Given the description of an element on the screen output the (x, y) to click on. 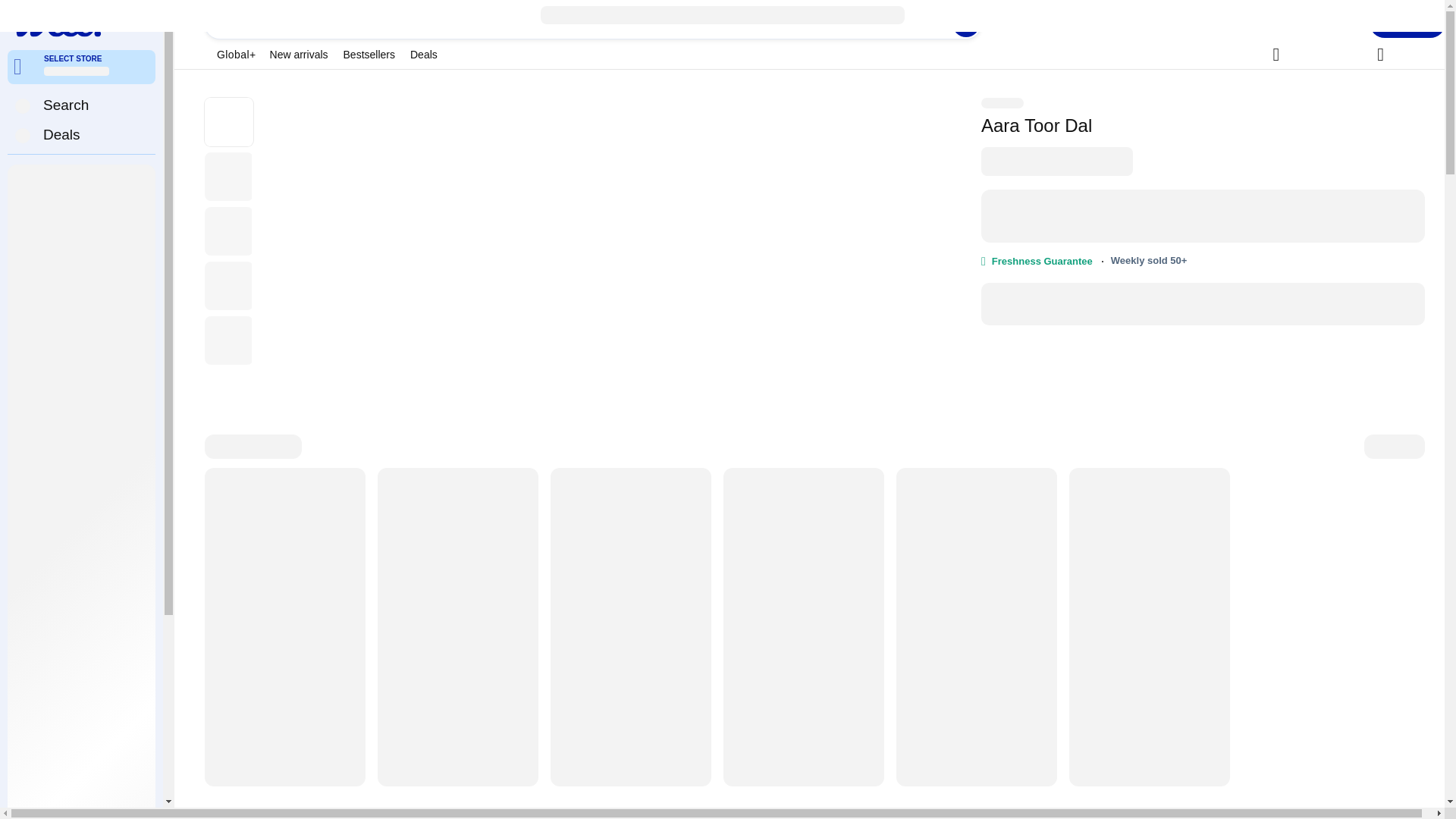
New arrivals (298, 54)
Deals (424, 54)
Search (965, 23)
Deals (62, 134)
Deals (81, 134)
Search (67, 104)
Bestsellers (369, 54)
